Given the description of an element on the screen output the (x, y) to click on. 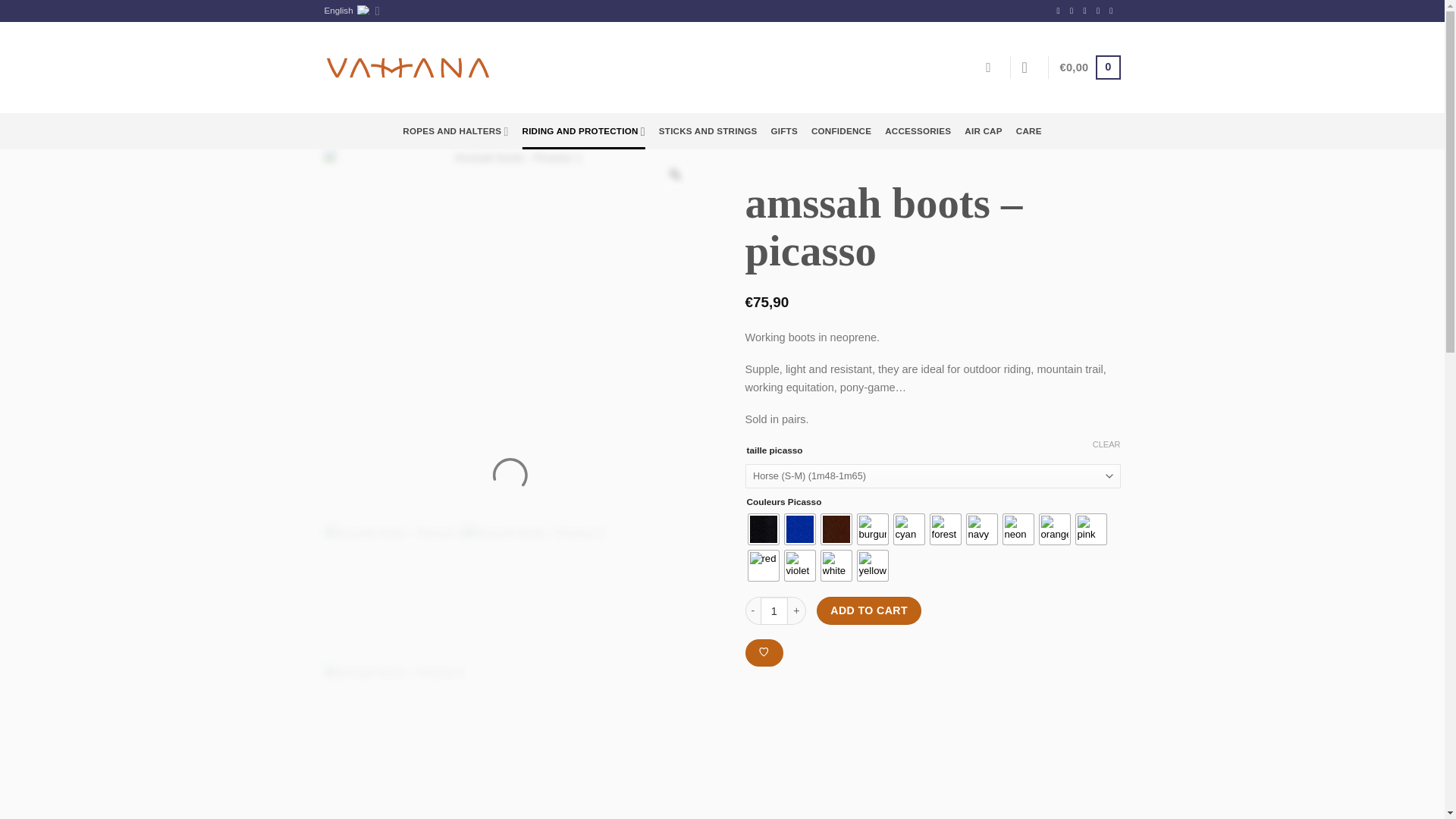
ROPES AND HALTERS (455, 131)
vahana-picasso-Amssah-chev-orange (394, 594)
Vahana - Free horse (408, 67)
Cart (1090, 67)
Follow on YouTube (1113, 10)
Follow on Instagram (1074, 10)
Send us an email (1100, 10)
Follow on TikTok (1086, 10)
Follow on Facebook (1061, 10)
